Given the description of an element on the screen output the (x, y) to click on. 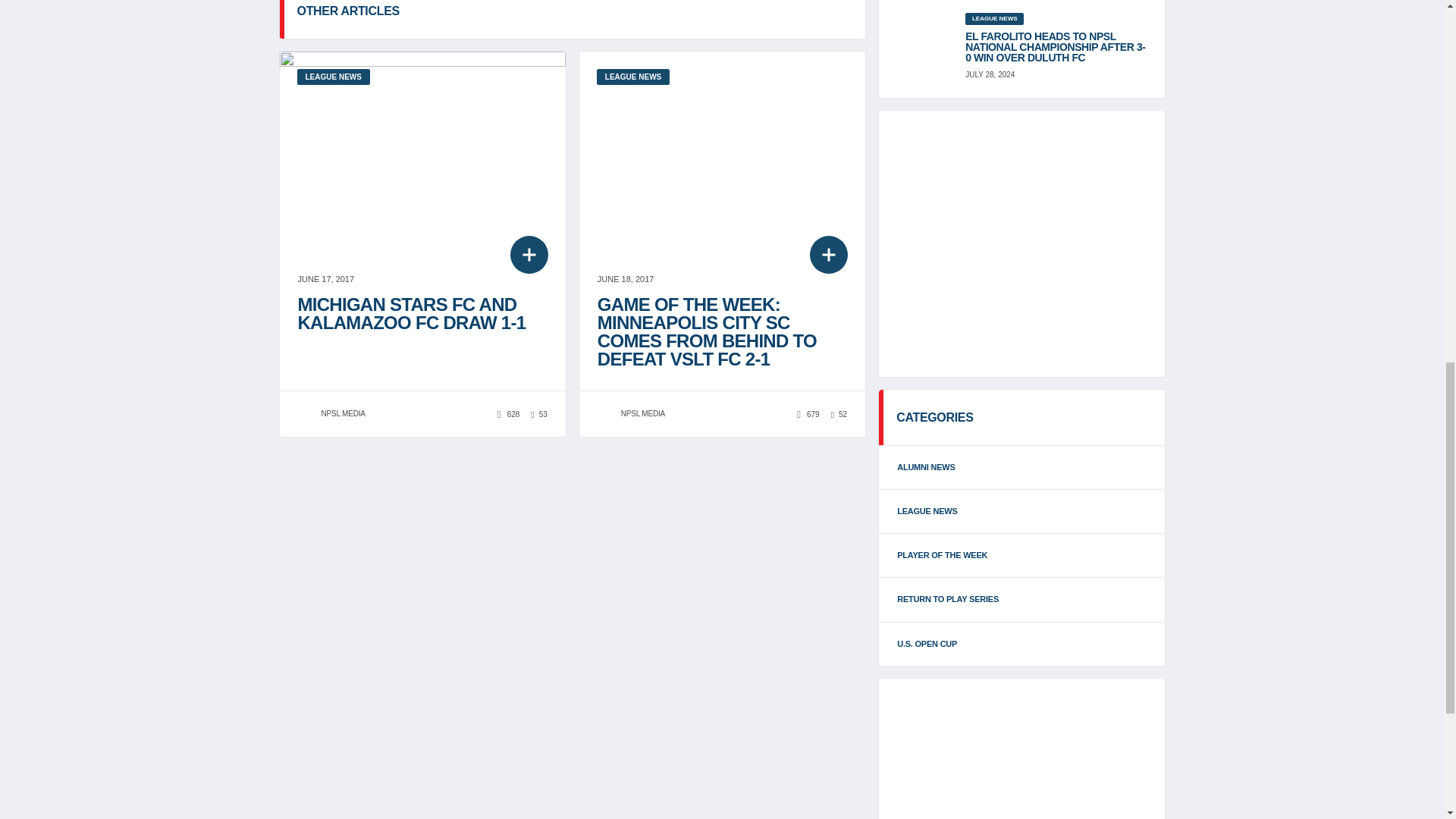
Like (539, 414)
Like (839, 414)
